Given the description of an element on the screen output the (x, y) to click on. 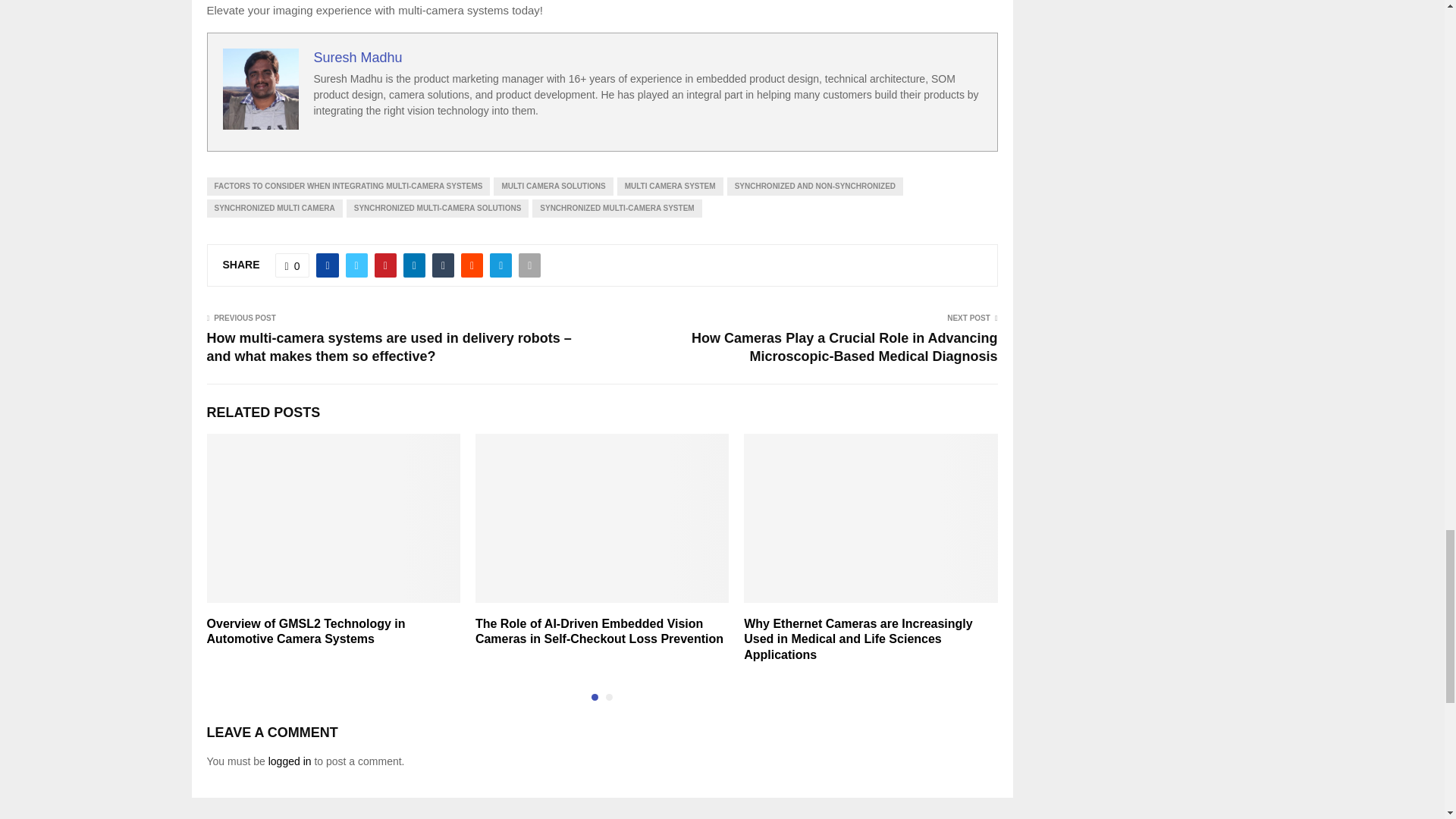
Like (292, 265)
